Given the description of an element on the screen output the (x, y) to click on. 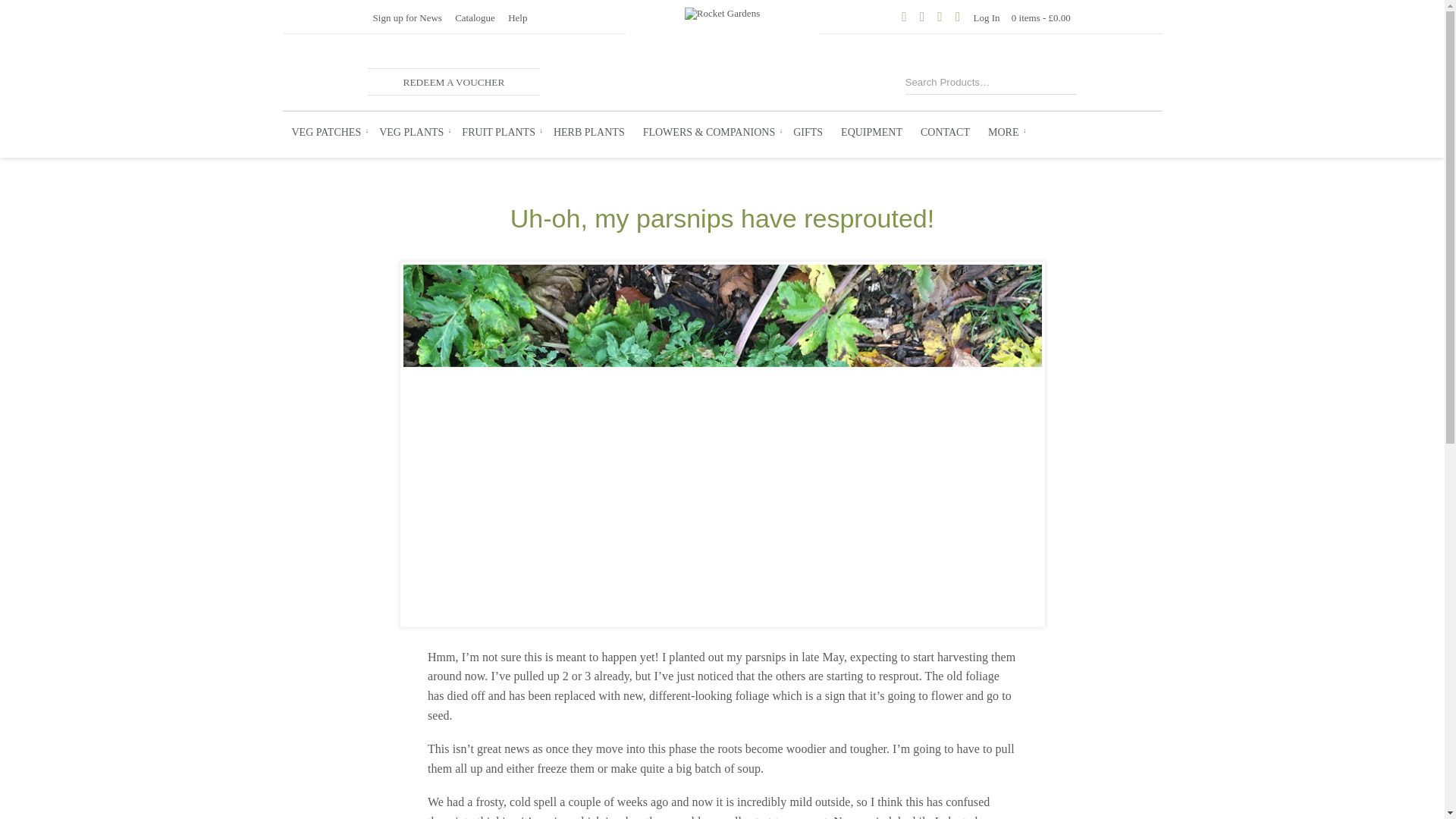
VEG PLANTS (410, 132)
Catalogue (473, 17)
Search for: (974, 80)
Sign up for News (406, 17)
REDEEM A VOUCHER (454, 81)
VEG PATCHES (325, 132)
Help (516, 17)
View your shopping cart (1040, 17)
Log In (987, 17)
